Given the description of an element on the screen output the (x, y) to click on. 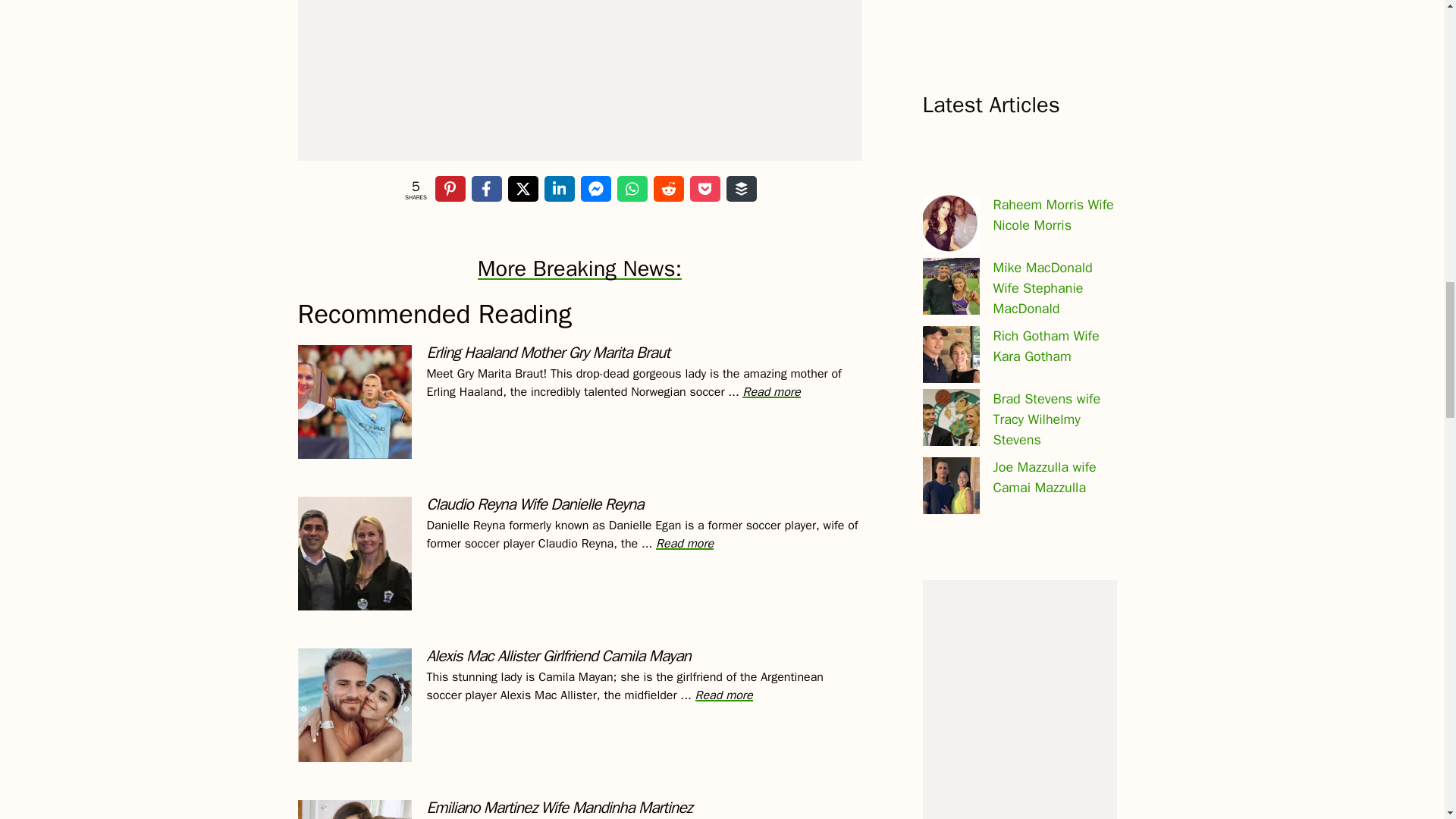
Claudio Reyna Wife Danielle Reyna (684, 543)
Alexis Mac Allister Girlfriend Camila Mayan (723, 694)
Erling Haaland Mother Gry Marita Braut (770, 391)
